Given the description of an element on the screen output the (x, y) to click on. 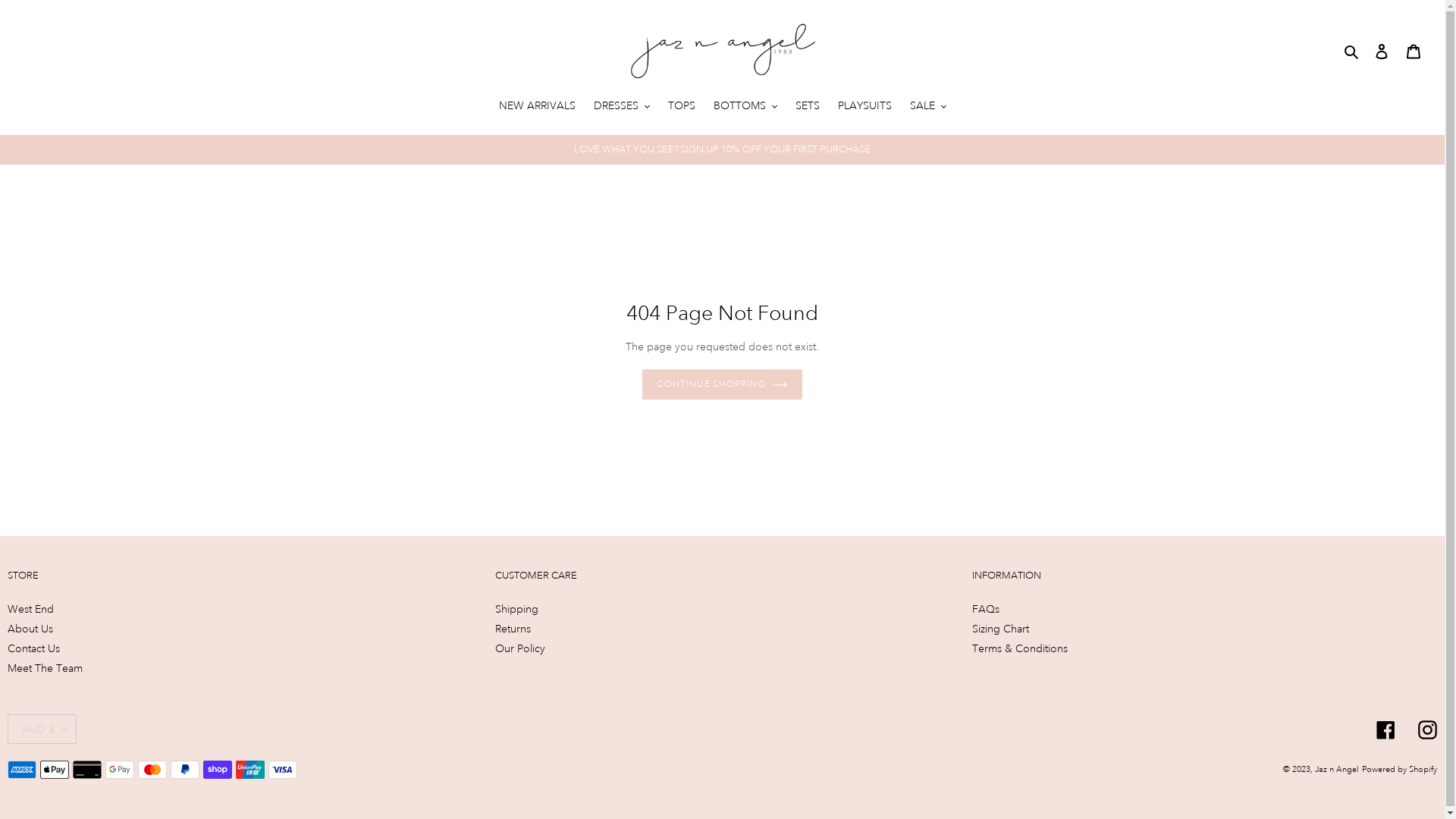
West End Element type: text (30, 608)
Powered by Shopify Element type: text (1399, 769)
Facebook Element type: text (1385, 729)
Our Policy Element type: text (520, 648)
SALE Element type: text (927, 106)
Sizing Chart Element type: text (1000, 628)
SETS Element type: text (806, 106)
Contact Us Element type: text (33, 648)
BOTTOMS Element type: text (744, 106)
Instagram Element type: text (1427, 729)
Log in Element type: text (1381, 50)
Shipping Element type: text (516, 608)
TOPS Element type: text (680, 106)
Jaz n Angel Element type: text (1336, 769)
DRESSES Element type: text (620, 106)
Returns Element type: text (512, 628)
Cart Element type: text (1413, 50)
AUD $ Element type: text (41, 728)
FAQs Element type: text (985, 608)
Meet The Team Element type: text (44, 667)
PLAYSUITS Element type: text (863, 106)
CONTINUE SHOPPING Element type: text (722, 384)
Terms & Conditions Element type: text (1019, 648)
About Us Element type: text (30, 628)
Search Element type: text (1352, 50)
NEW ARRIVALS Element type: text (537, 106)
